Given the description of an element on the screen output the (x, y) to click on. 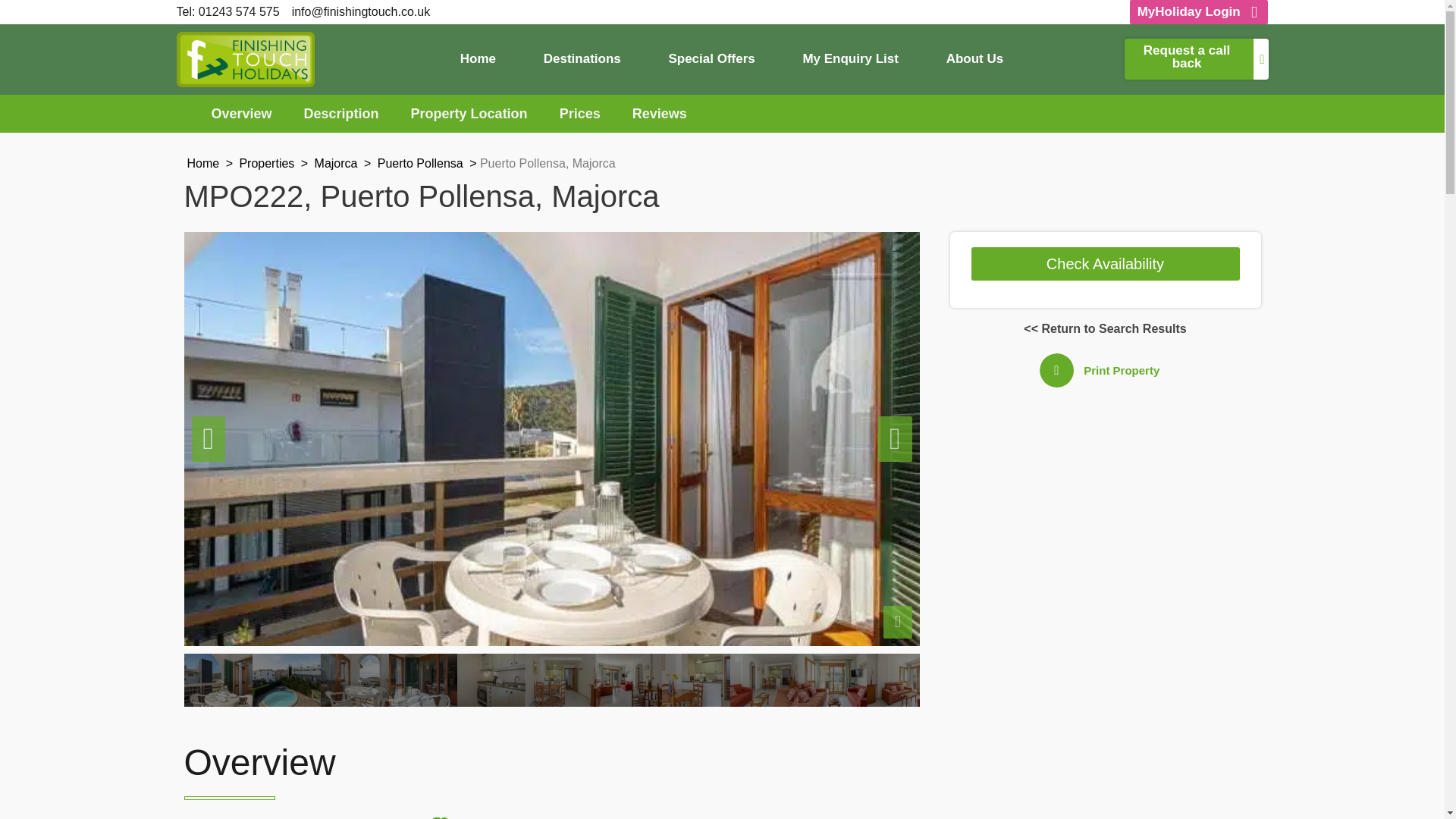
Special Offers (711, 58)
Destinations (582, 58)
MyHoliday Login (1198, 12)
Reviews (659, 113)
Home (478, 58)
Description (341, 113)
Overview (241, 113)
Request a call back (1196, 58)
My Enquiry List (850, 58)
Property Location (468, 113)
About Us (974, 58)
Tel: 01243 574 575 (227, 12)
Prices (579, 113)
Home (202, 163)
